Given the description of an element on the screen output the (x, y) to click on. 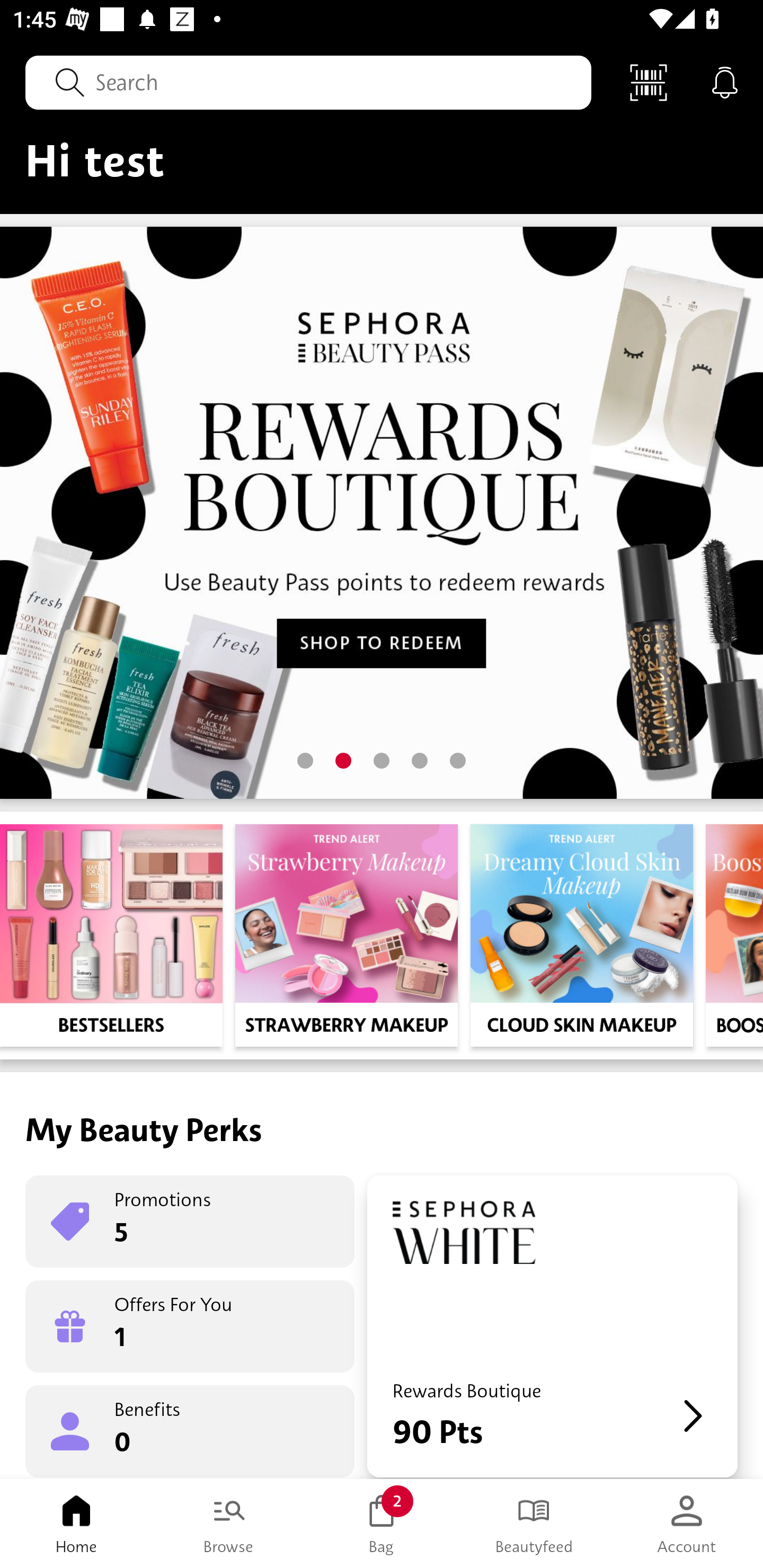
Scan Code (648, 81)
Notifications (724, 81)
Search (308, 81)
Promotions 5 (189, 1221)
Rewards Boutique 90 Pts (552, 1326)
Offers For You 1 (189, 1326)
Benefits 0 (189, 1430)
Browse (228, 1523)
Bag 2 Bag (381, 1523)
Beautyfeed (533, 1523)
Account (686, 1523)
